Given the description of an element on the screen output the (x, y) to click on. 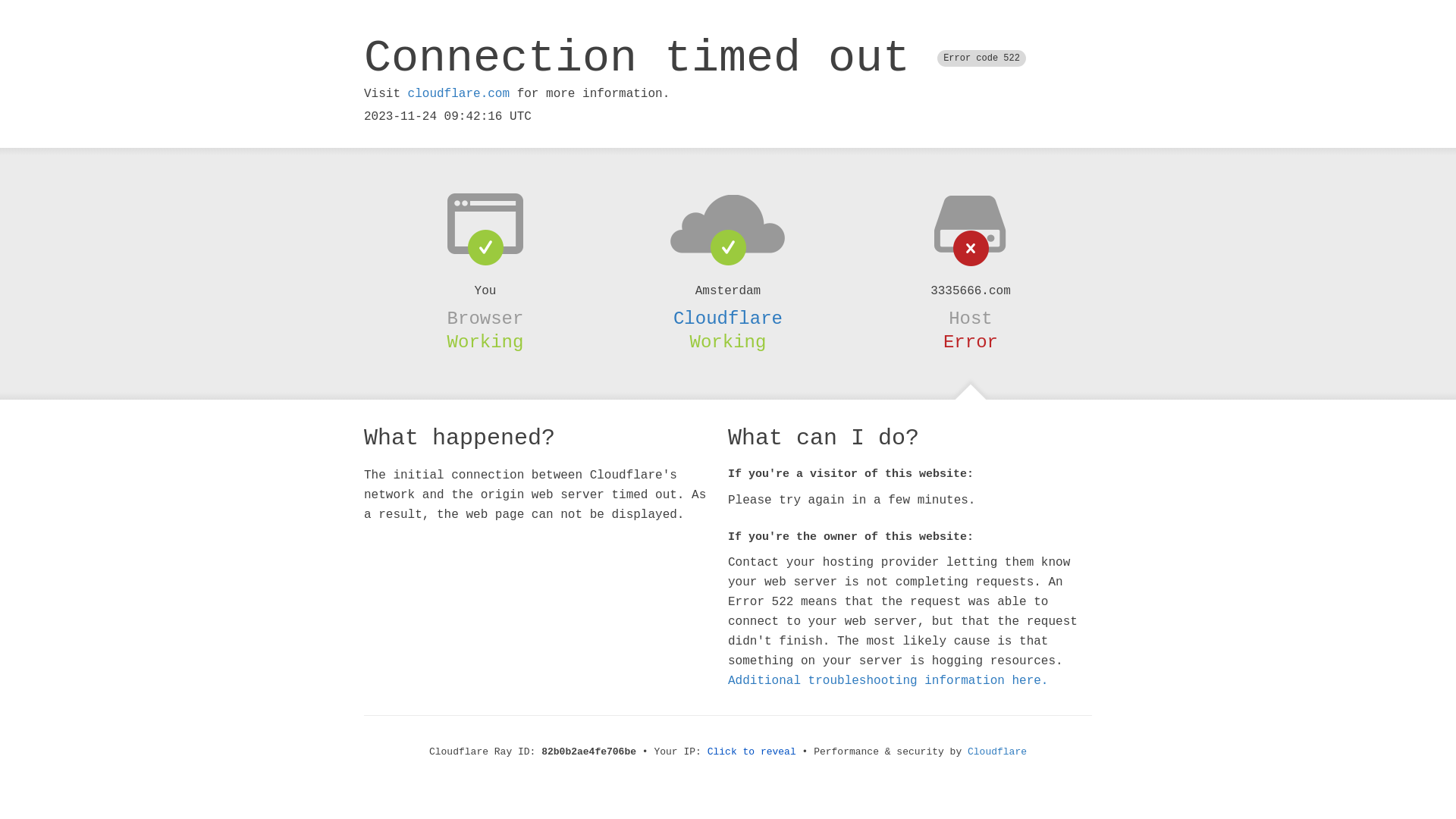
cloudflare.com Element type: text (458, 93)
Click to reveal Element type: text (751, 751)
Cloudflare Element type: text (727, 318)
Additional troubleshooting information here. Element type: text (888, 680)
Cloudflare Element type: text (996, 751)
